Given the description of an element on the screen output the (x, y) to click on. 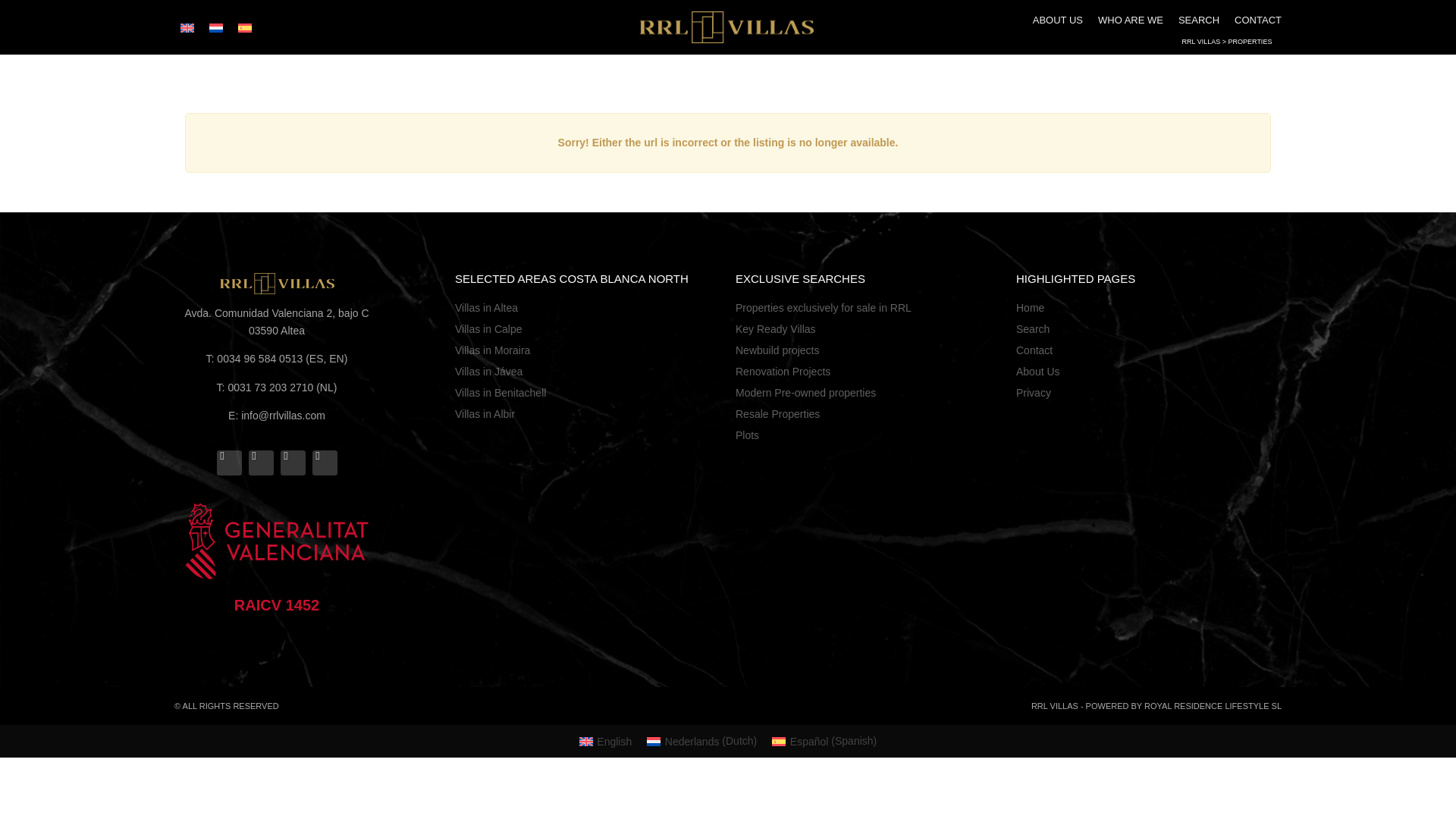
Key Ready Villas (868, 329)
WHO ARE WE (1130, 19)
Villas in Albir (587, 414)
CONTACT (1257, 19)
SEARCH (1198, 19)
Villas in Altea (587, 307)
RRL VILLAS (1201, 41)
Villas in Calpe (587, 329)
Villas in Moraira (587, 350)
ABOUT US (1057, 19)
